Given the description of an element on the screen output the (x, y) to click on. 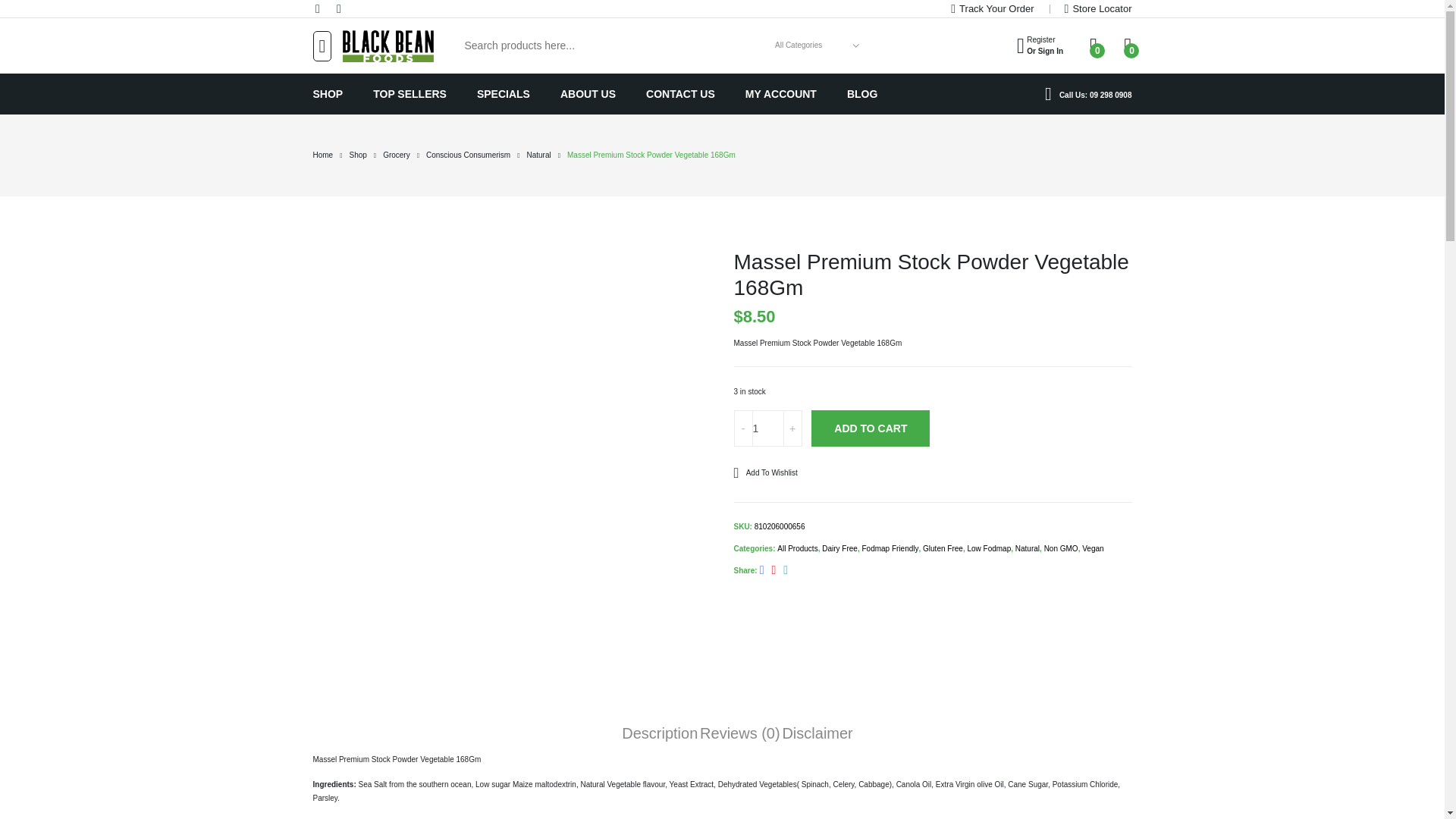
Store Locator (1098, 8)
instagram (340, 8)
MY ACCOUNT (780, 93)
SPECIALS (503, 93)
ABOUT US (1039, 46)
Track Your Order (587, 93)
TOP SELLERS (991, 8)
CONTACT US (409, 93)
facebook (680, 93)
